Given the description of an element on the screen output the (x, y) to click on. 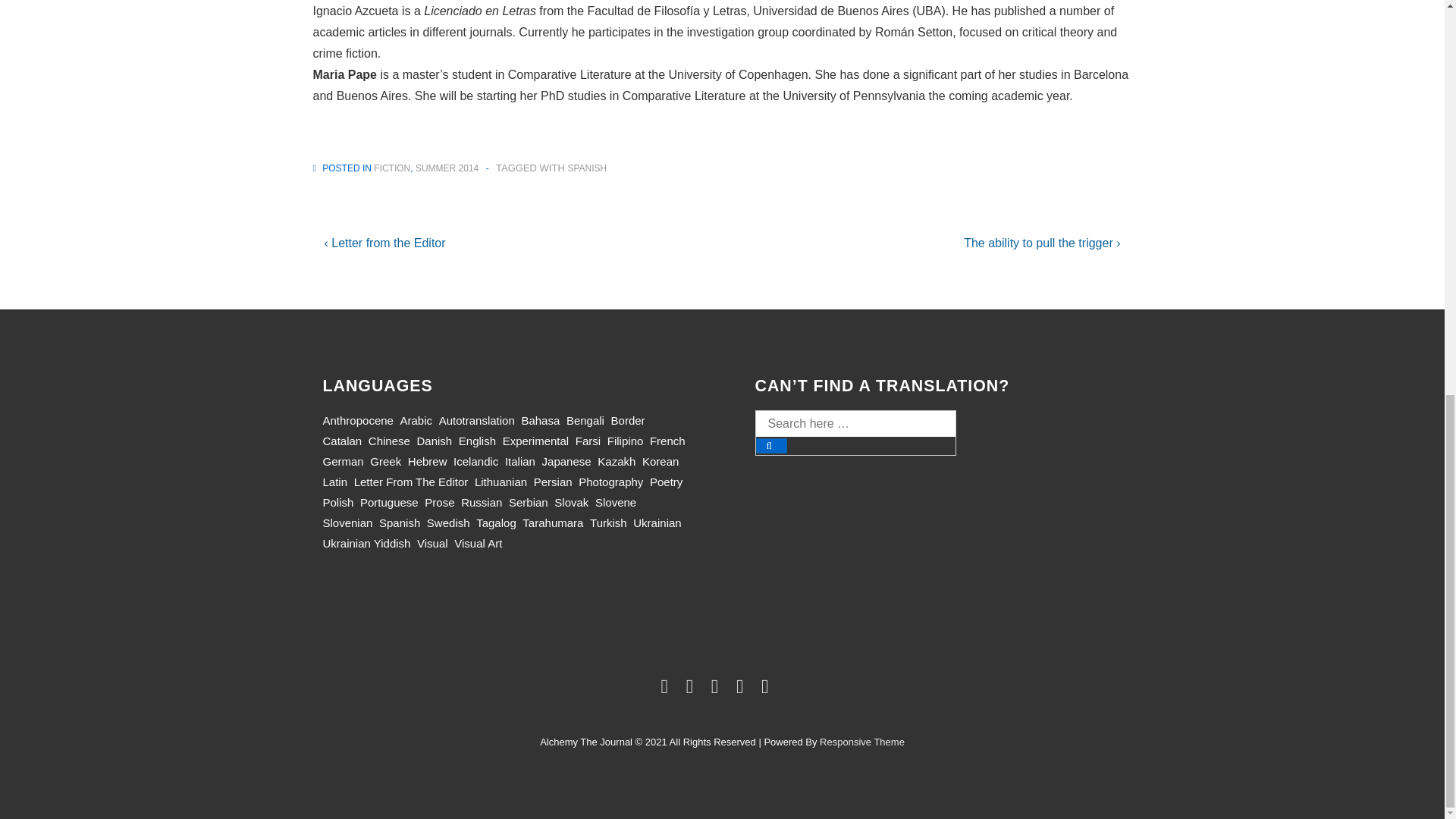
twitter (668, 689)
Anthropocene (358, 420)
French (667, 440)
Persian (553, 481)
Italian (520, 461)
Greek (385, 461)
FICTION (392, 167)
Japanese (566, 461)
SPANISH (587, 167)
Filipino (625, 440)
